Given the description of an element on the screen output the (x, y) to click on. 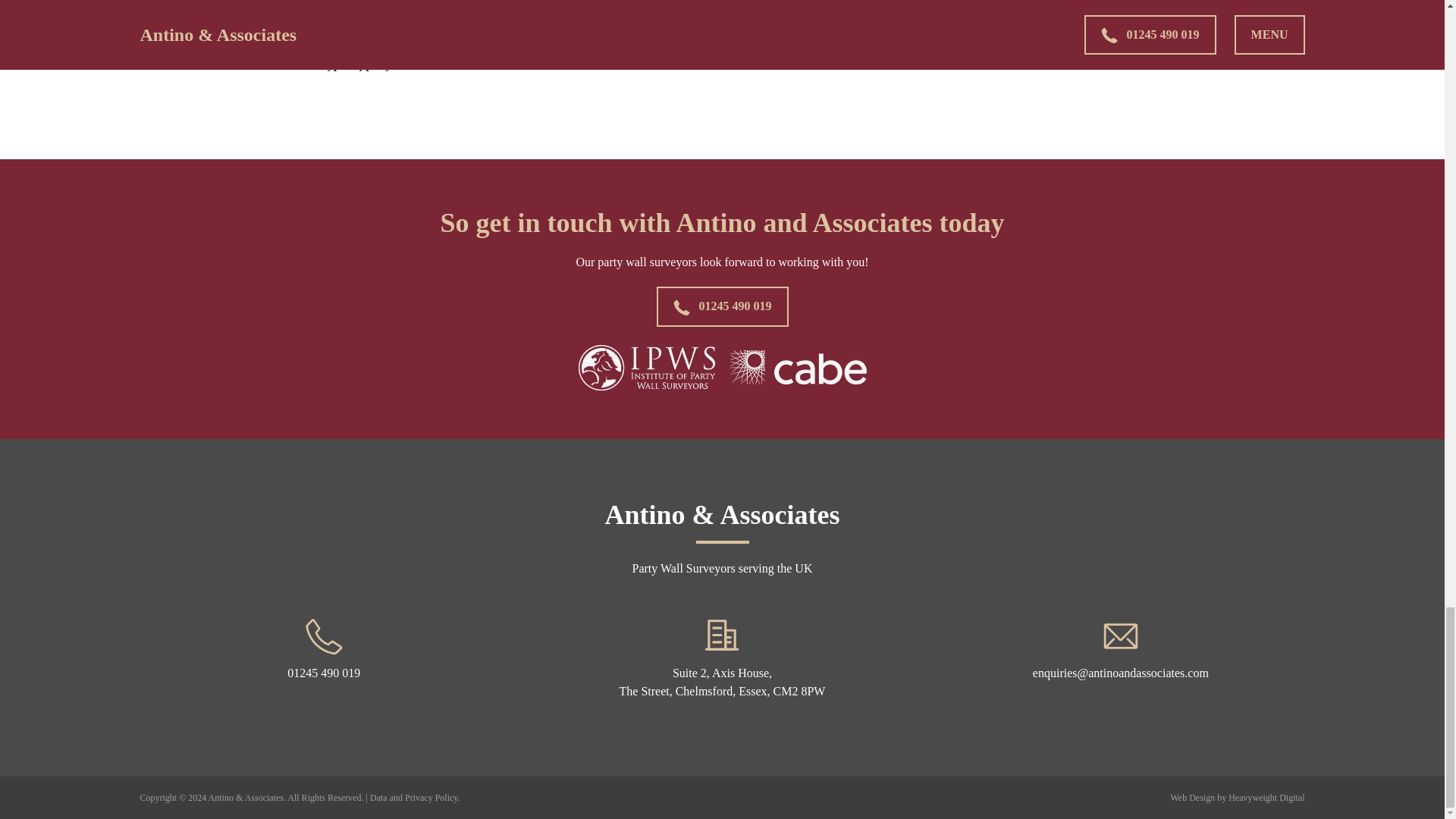
Data and Privacy Policy (413, 797)
Heavyweight Digital (1266, 797)
01245 490 019 (722, 305)
01245 490 019 (322, 658)
